Given the description of an element on the screen output the (x, y) to click on. 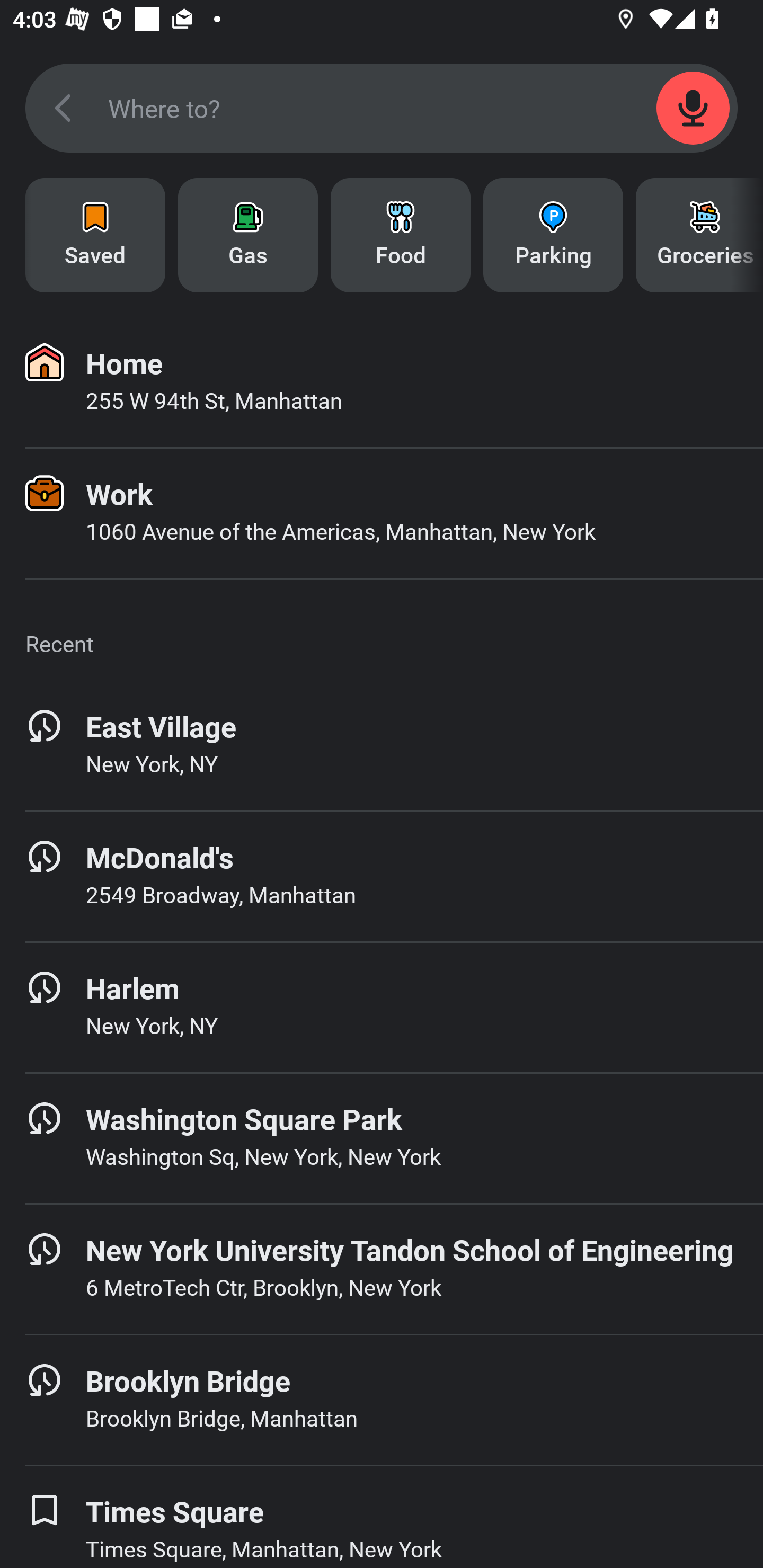
SEARCH_SCREEN_SEARCH_FIELD Where to? (381, 108)
Saved (95, 234)
Gas (247, 234)
Food (400, 234)
Parking (552, 234)
Groceries (699, 234)
Home 255 W 94th St, Manhattan (381, 382)
East Village New York, NY (381, 745)
McDonald's 2549 Broadway, Manhattan (381, 876)
Harlem New York, NY (381, 1007)
Brooklyn Bridge Brooklyn Bridge, Manhattan (381, 1399)
Times Square Times Square, Manhattan, New York (381, 1517)
